Given the description of an element on the screen output the (x, y) to click on. 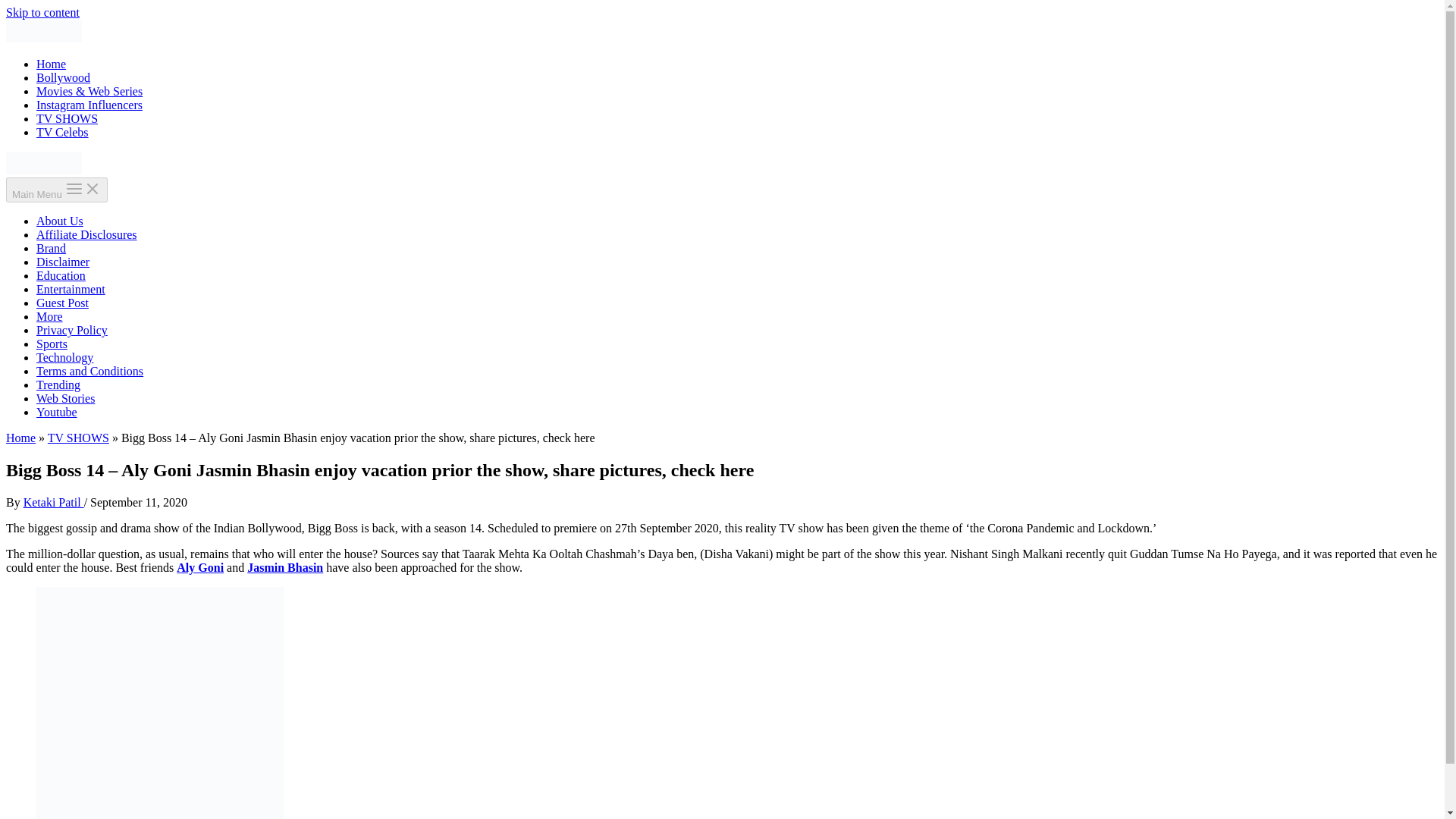
Guest Post (62, 302)
Sports (51, 343)
Terms and Conditions (89, 370)
Web Stories (65, 398)
More (49, 316)
Brand (50, 247)
TV SHOWS (78, 437)
Skip to content (42, 11)
Jasmin Bhasin (285, 567)
TV Celebs (62, 132)
